Given the description of an element on the screen output the (x, y) to click on. 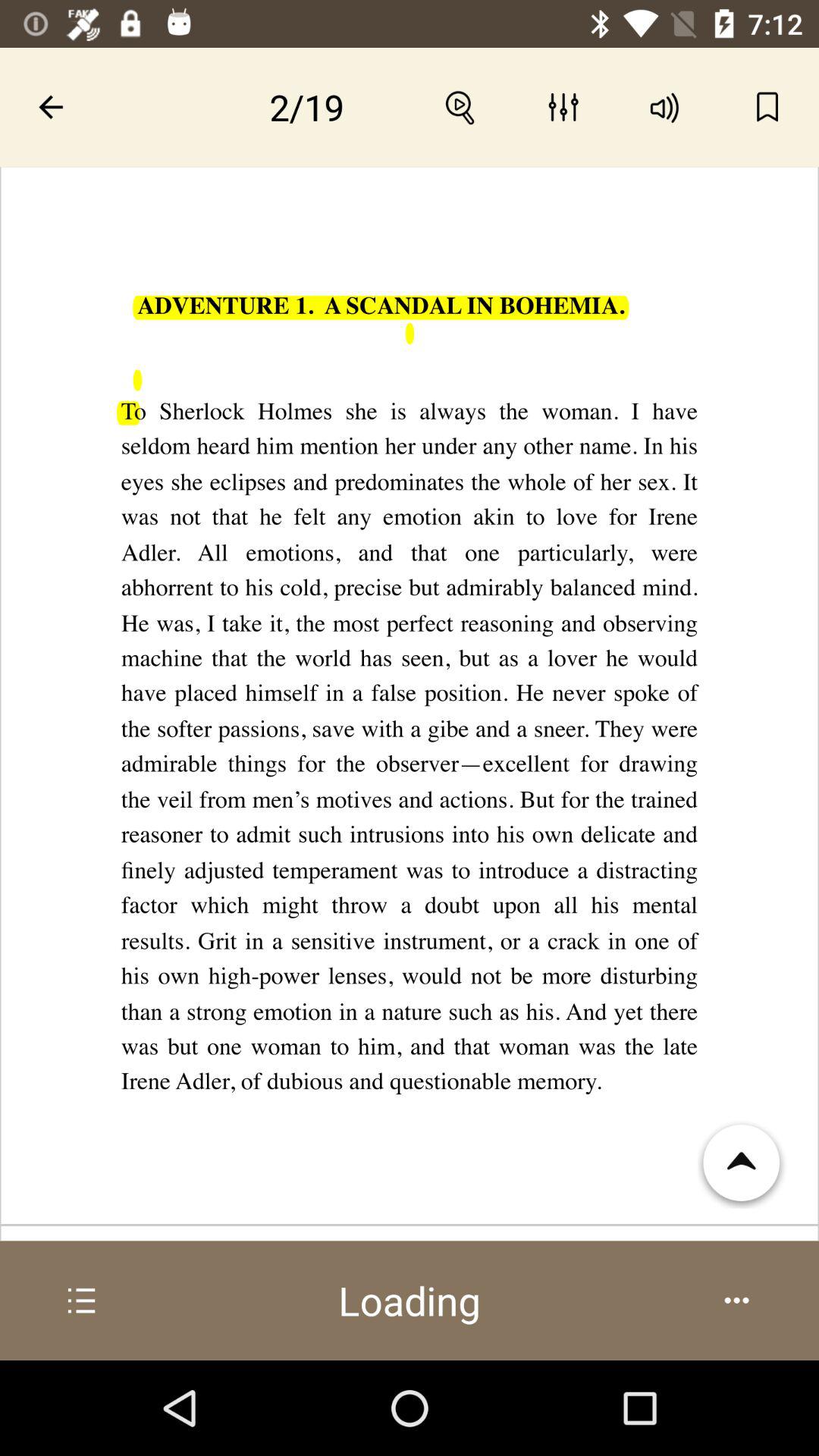
click  the  arrow on the top left corner (50, 106)
select the volume icon which is beside the save icon (665, 106)
select the options icon which is at the bottom right corner (736, 1299)
click on the icon which is the immediate right of the search button (562, 106)
click page up icon (742, 1163)
click on the icon to the right of 219 (460, 106)
